Given the description of an element on the screen output the (x, y) to click on. 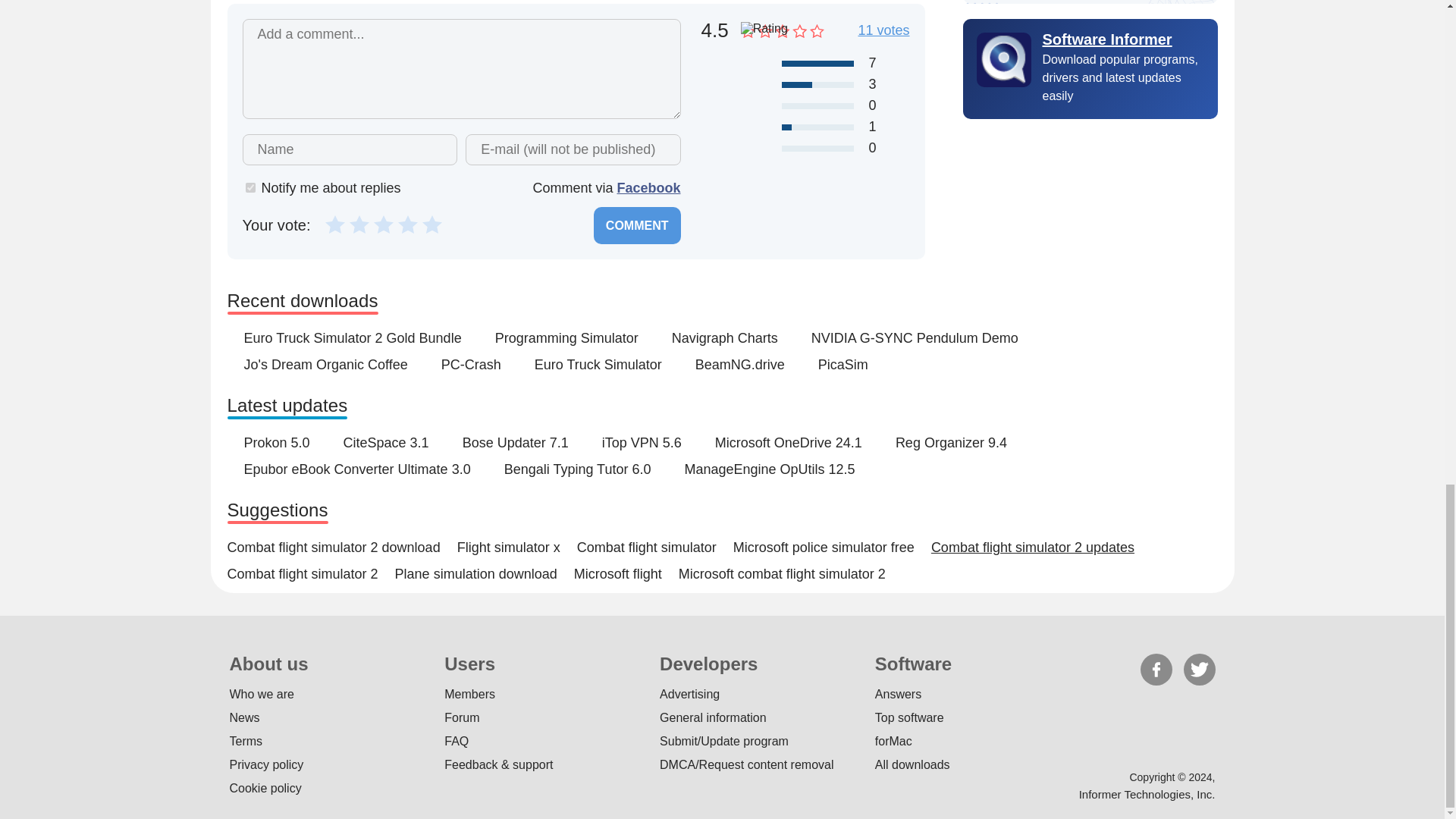
Comment (637, 225)
2 (359, 223)
3 (383, 223)
5 (432, 223)
Software Informer (1090, 38)
1 (335, 223)
1 (251, 187)
4 (408, 223)
